Given the description of an element on the screen output the (x, y) to click on. 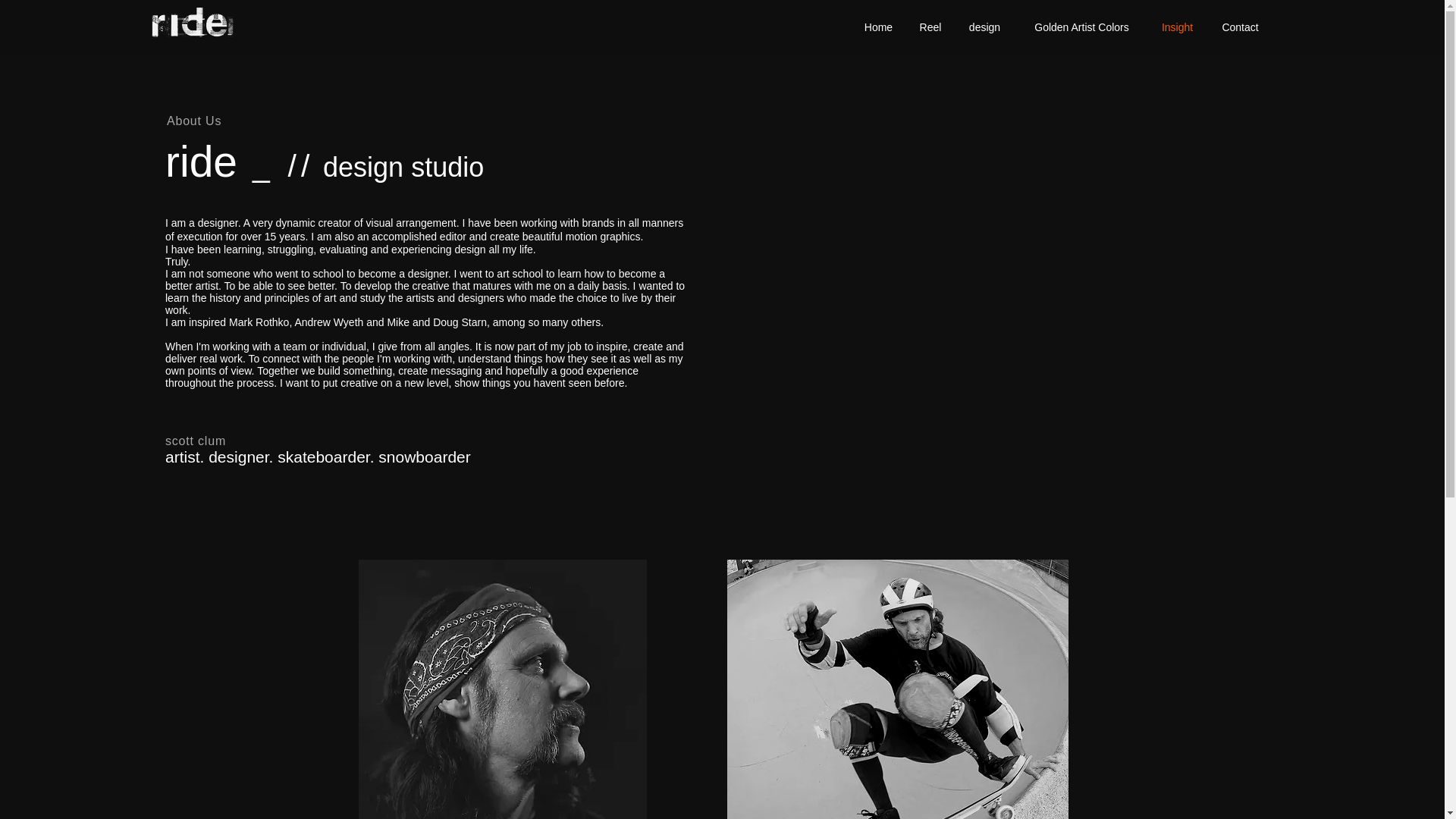
Contact (1240, 26)
design (983, 26)
Reel (930, 26)
Insight (1177, 26)
Golden Artist Colors (1081, 26)
Home (878, 26)
